Given the description of an element on the screen output the (x, y) to click on. 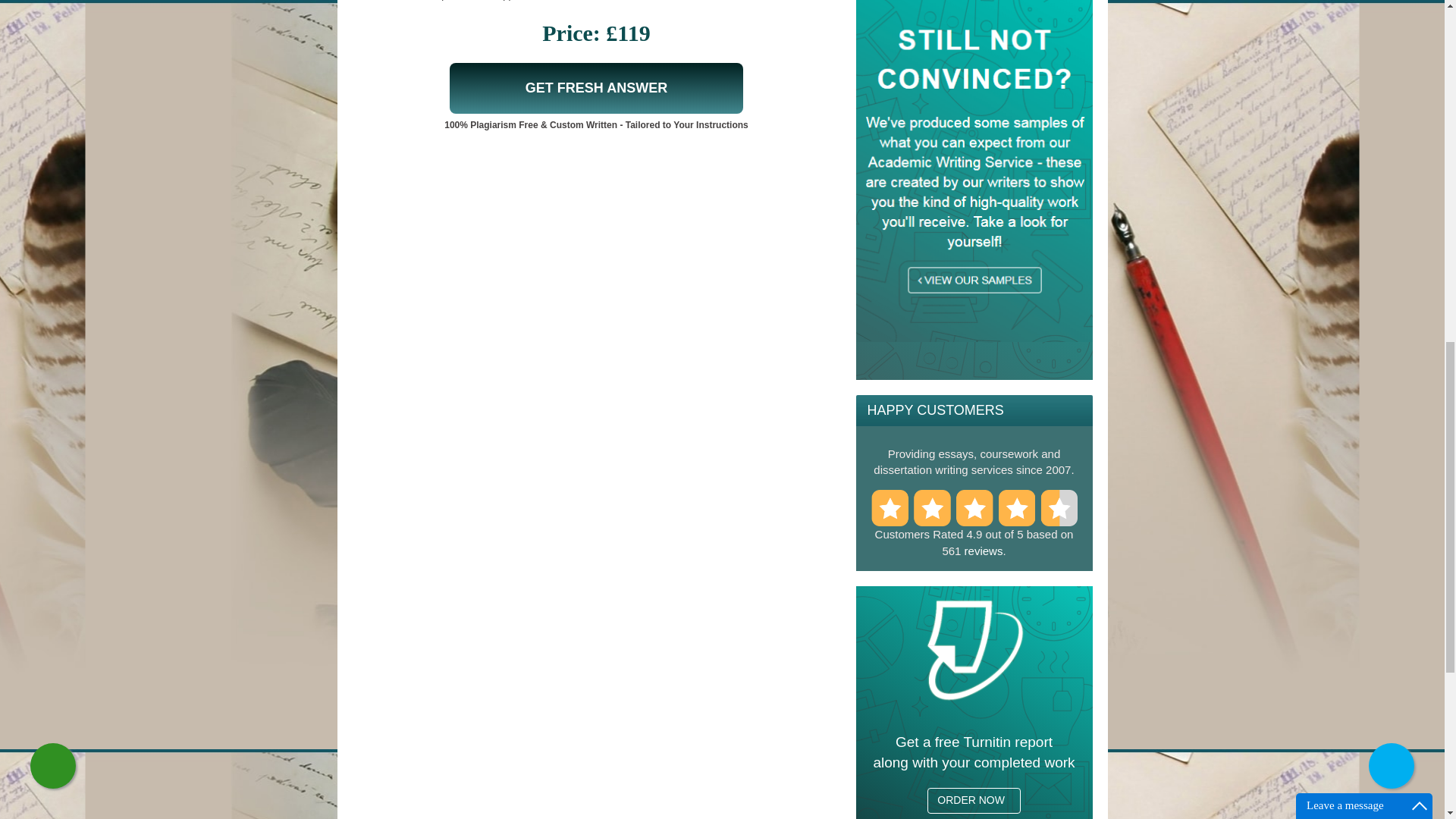
GET FRESH ANSWER (595, 88)
reviews (983, 550)
ORDER NOW   (973, 800)
